Given the description of an element on the screen output the (x, y) to click on. 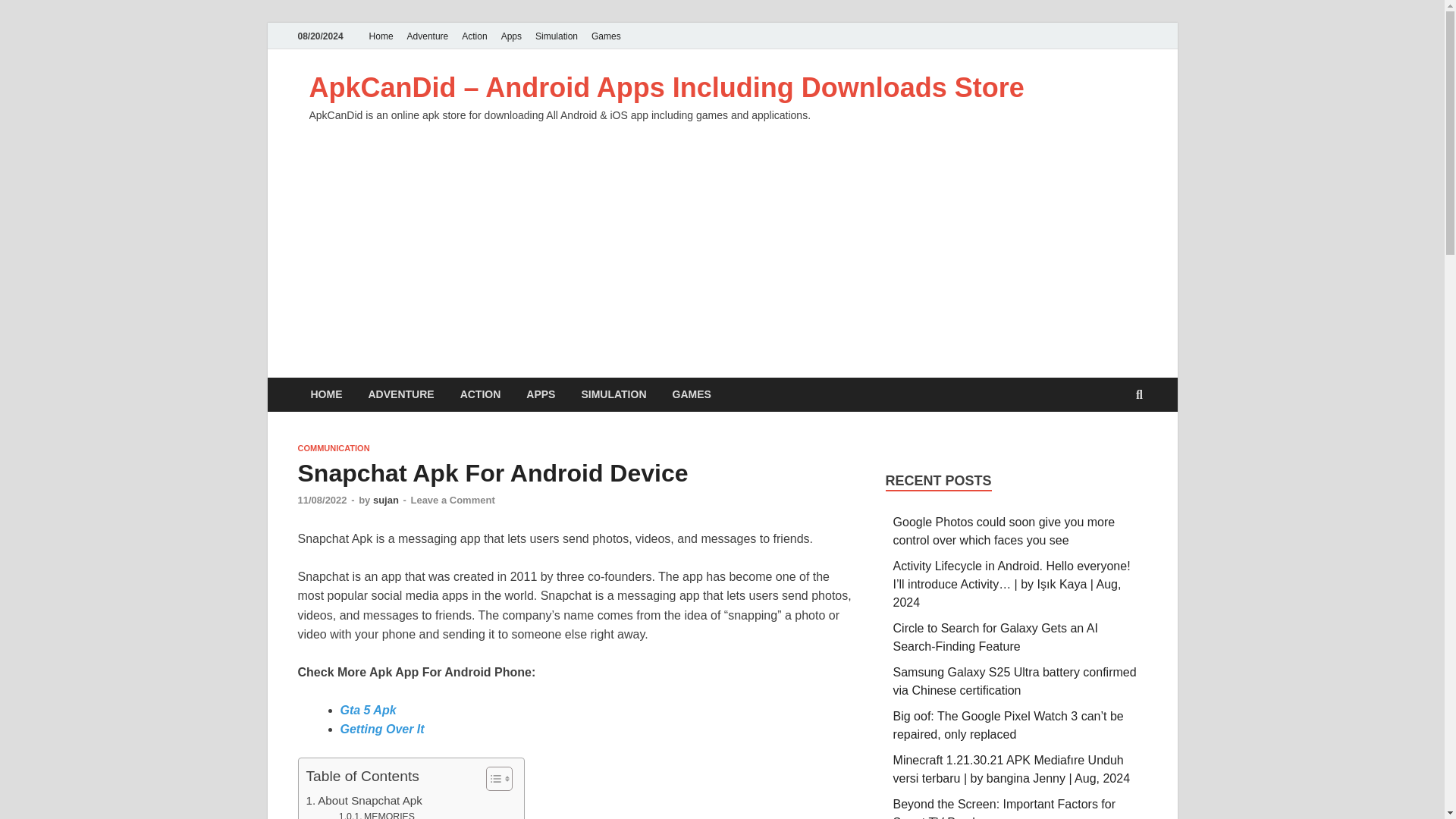
Apps (511, 35)
APPS (540, 394)
Getting Over It (381, 728)
Adventure (427, 35)
Games (606, 35)
Leave a Comment (452, 500)
COMMUNICATION (333, 447)
MEMORIES (376, 814)
About Snapchat Apk (363, 800)
About Snapchat Apk (363, 800)
